Given the description of an element on the screen output the (x, y) to click on. 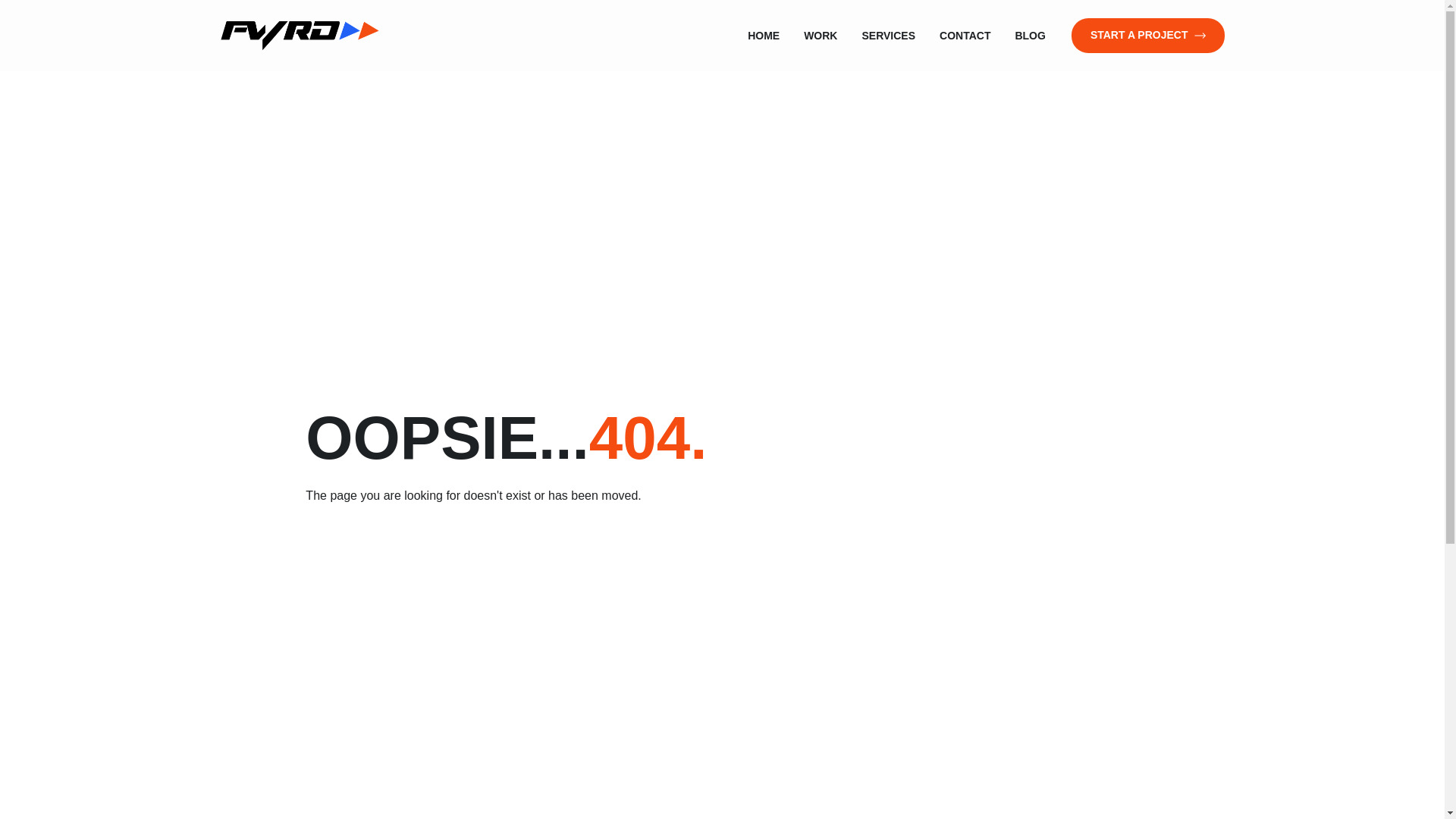
SERVICES (888, 35)
BLOG (1029, 35)
WORK (820, 35)
CONTACT (964, 35)
HOME (763, 35)
START A PROJECT (1147, 35)
